Given the description of an element on the screen output the (x, y) to click on. 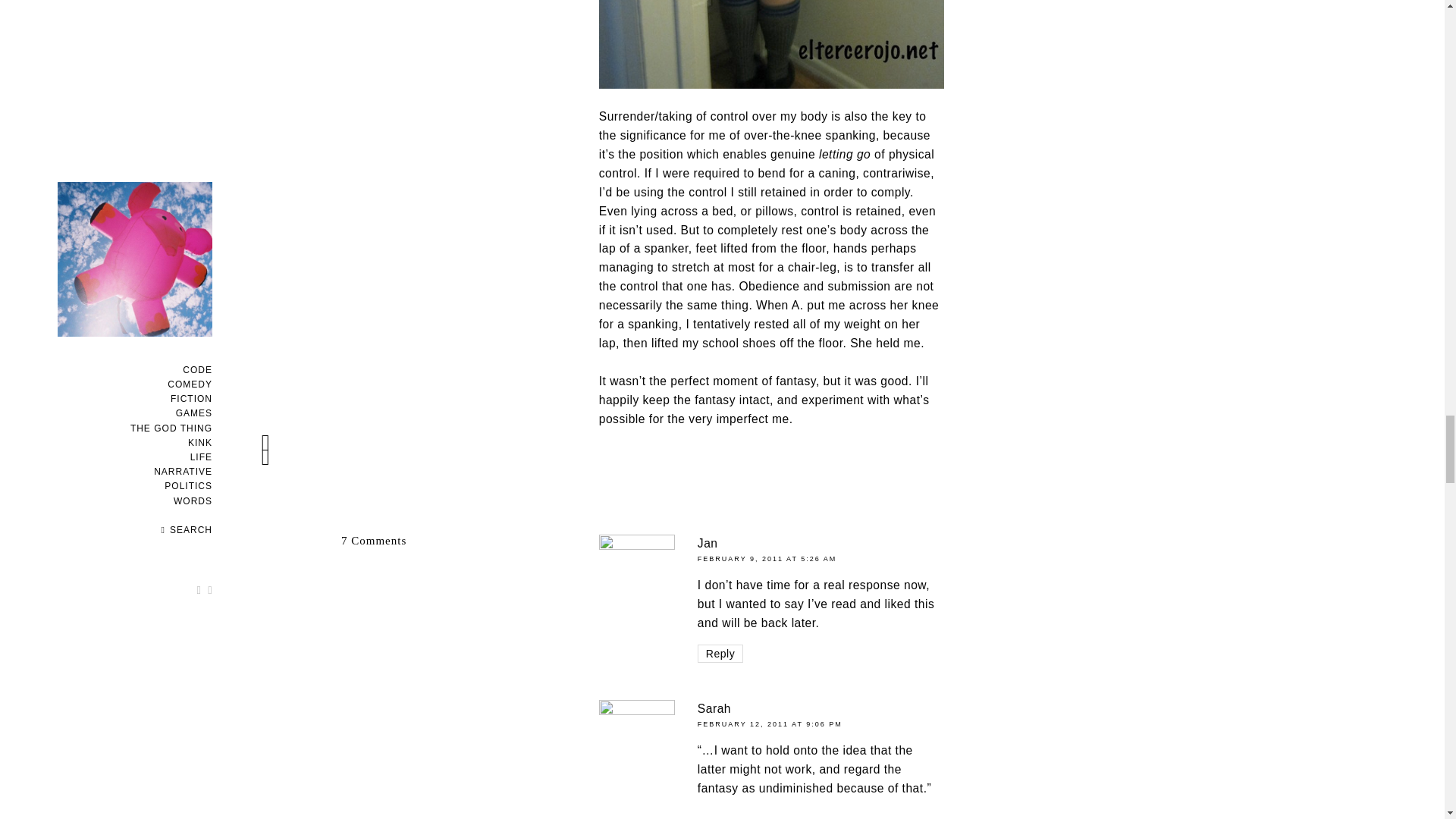
FEBRUARY 9, 2011 AT 5:26 AM (766, 558)
uniform-day (770, 44)
FEBRUARY 12, 2011 AT 9:06 PM (770, 724)
Reply (719, 653)
